Given the description of an element on the screen output the (x, y) to click on. 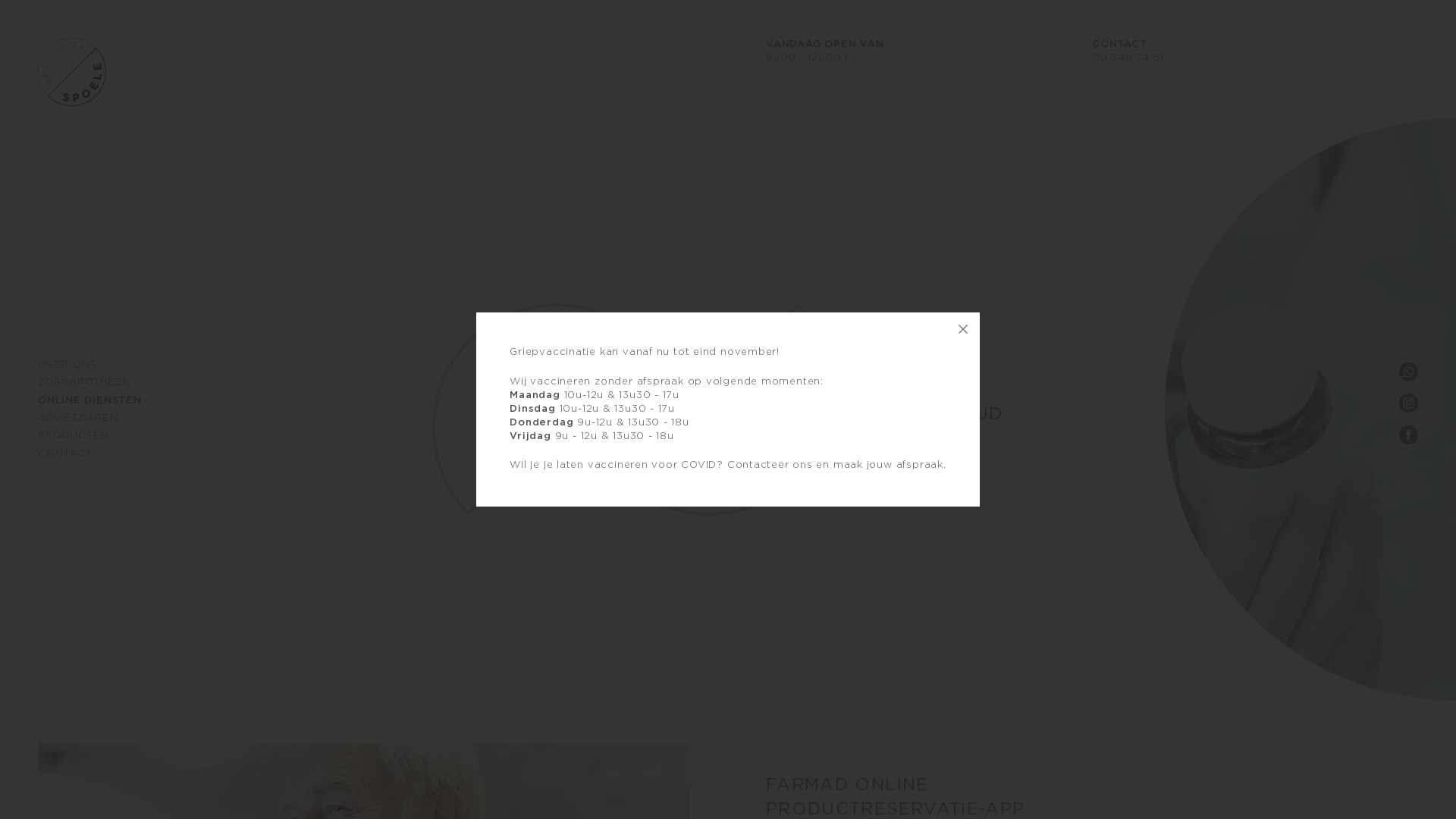
ONLINE DIENSTEN Element type: text (89, 400)
ADVIESDAGEN Element type: text (77, 418)
OVER ONS Element type: text (67, 365)
ZORGAPOTHEEK Element type: text (83, 382)
Close Element type: hover (962, 328)
PRODUCTEN Element type: text (73, 435)
CONTACT Element type: text (64, 453)
09 348 74 51 Element type: text (1127, 57)
